Given the description of an element on the screen output the (x, y) to click on. 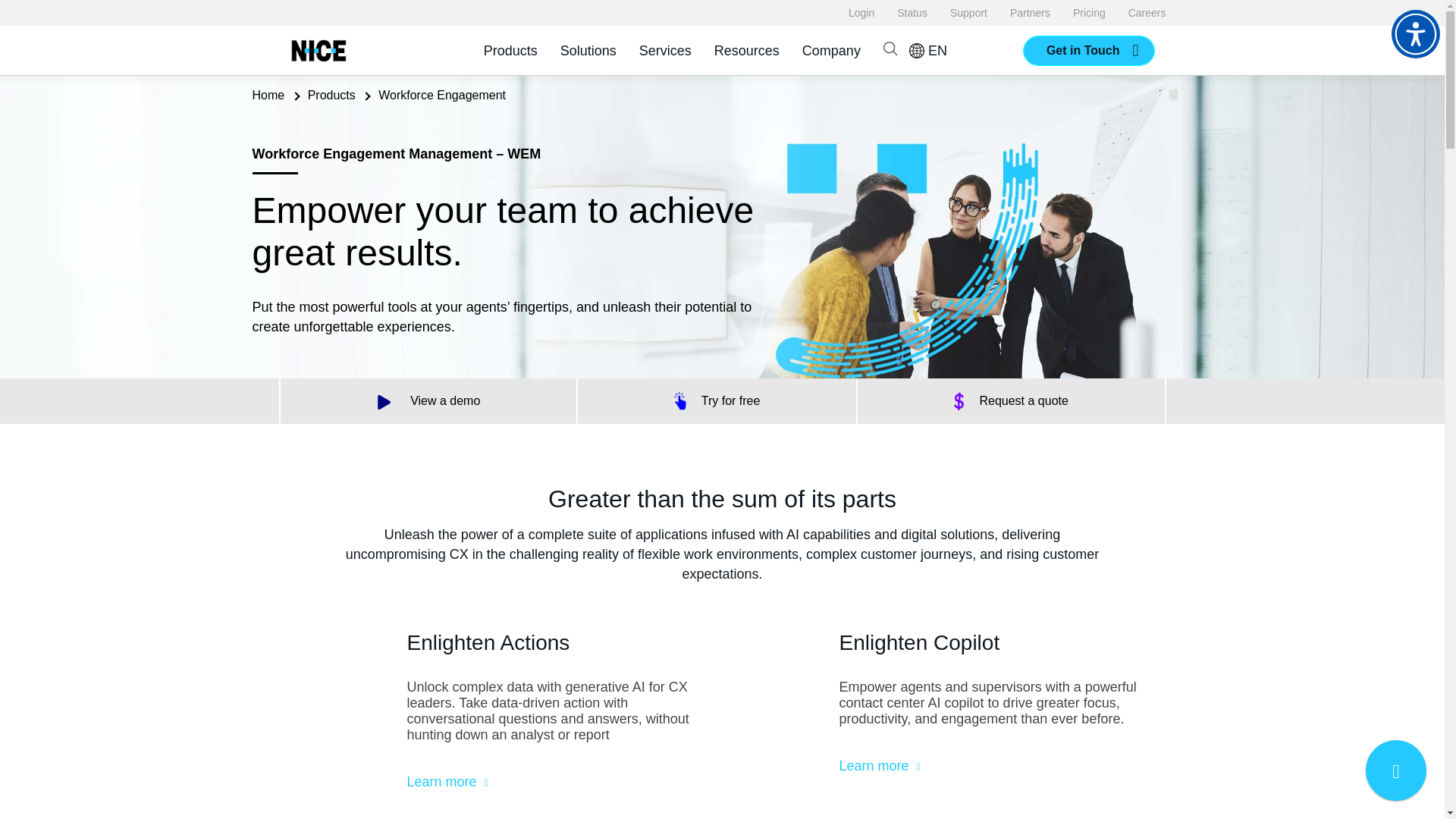
Status (911, 12)
Support (968, 12)
Careers (1147, 12)
Partners (1029, 12)
Login (861, 12)
Products (509, 50)
Solutions (587, 50)
Accessibility Menu (1415, 33)
Pricing (1089, 12)
